Given the description of an element on the screen output the (x, y) to click on. 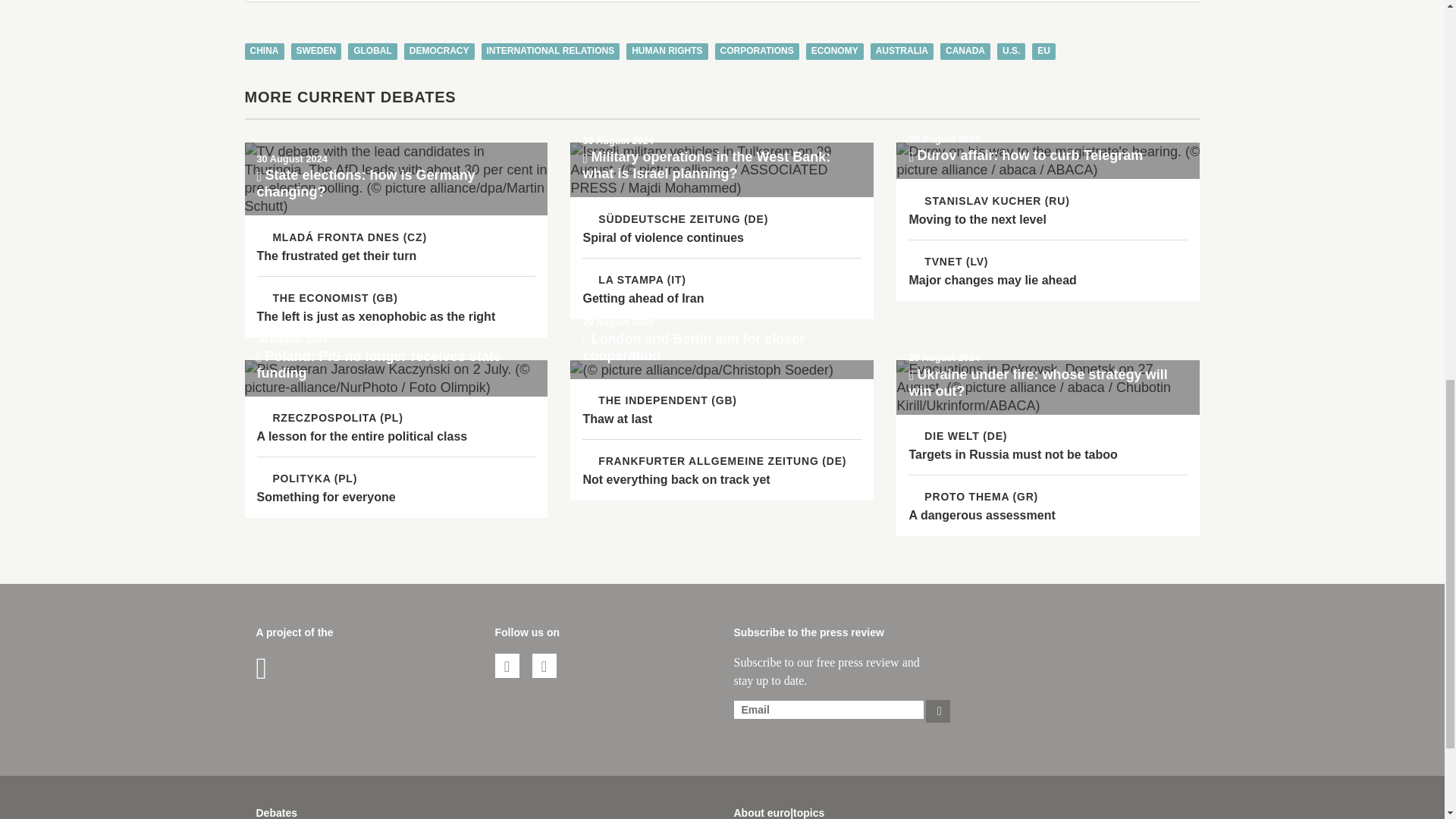
The Economist (326, 297)
La Stampa (633, 279)
State elections: how is Germany changing? (395, 178)
Stanislav Kucher (989, 201)
Durov affair: how to curb Telegram (1047, 160)
